Given the description of an element on the screen output the (x, y) to click on. 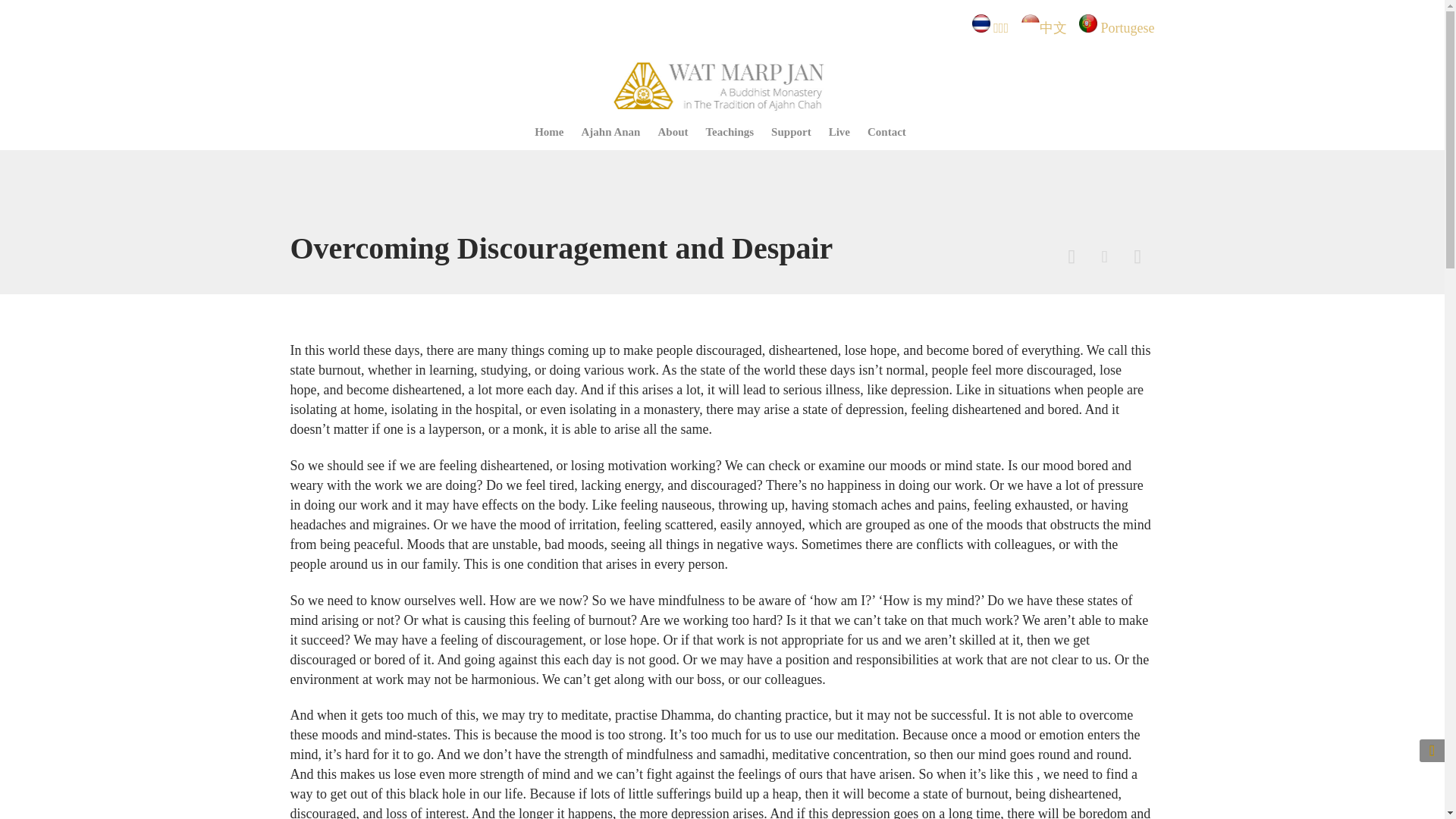
Ajahn Anan (611, 132)
Live (839, 132)
About (672, 132)
Support (791, 132)
Wat Marp Jan (721, 83)
Portugese (1127, 28)
Contact (886, 132)
Home (548, 132)
